Given the description of an element on the screen output the (x, y) to click on. 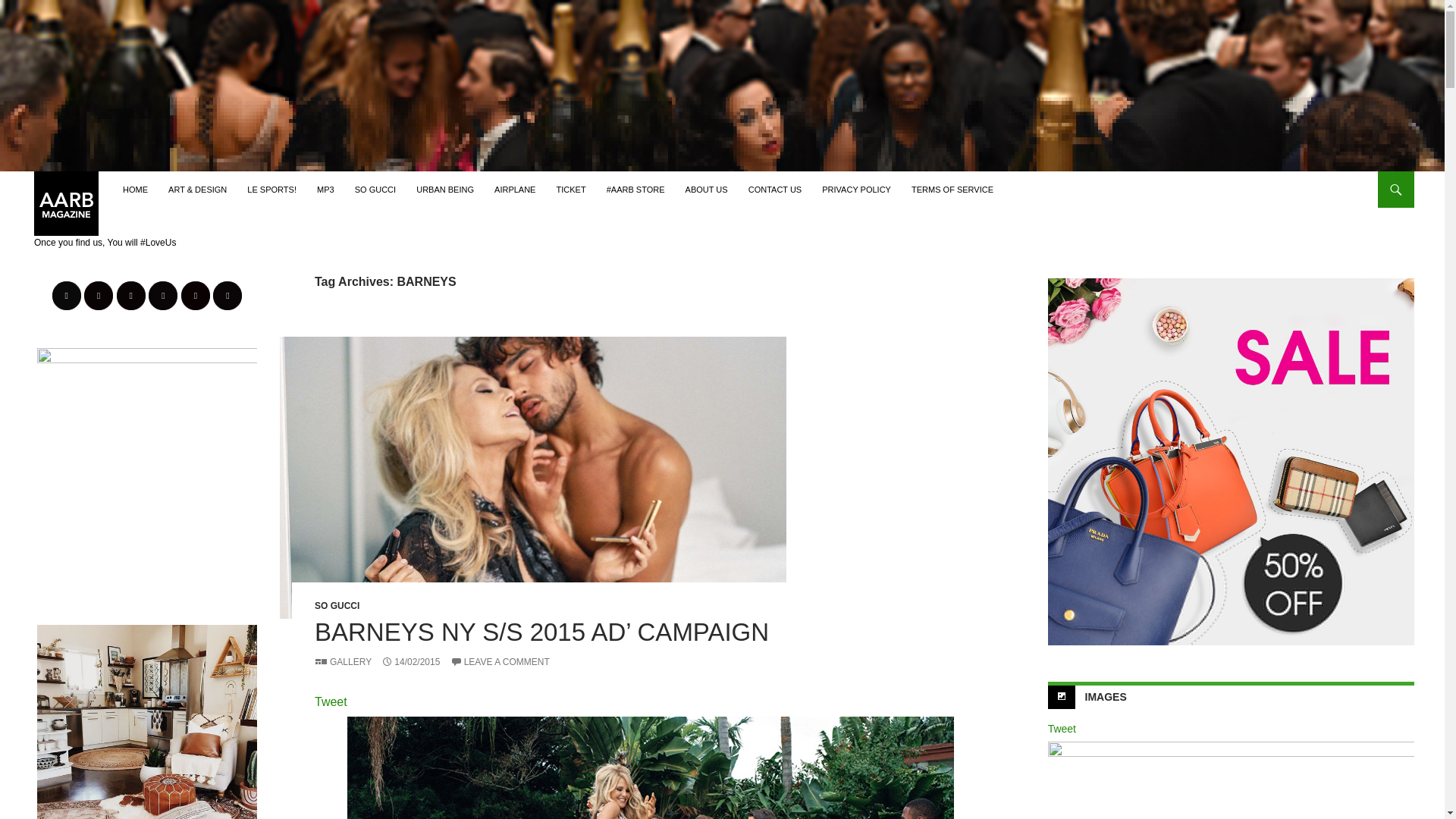
Shop products on Sale at AARB Store (1230, 461)
Tweet (330, 701)
SO GUCCI (375, 189)
TERMS OF SERVICE (952, 189)
SKIP TO CONTENT (159, 177)
SO GUCCI (336, 605)
LEAVE A COMMENT (499, 661)
LE SPORTS! (271, 189)
IMAGES (1105, 695)
AARB Magazine on Instagram (98, 295)
